Given the description of an element on the screen output the (x, y) to click on. 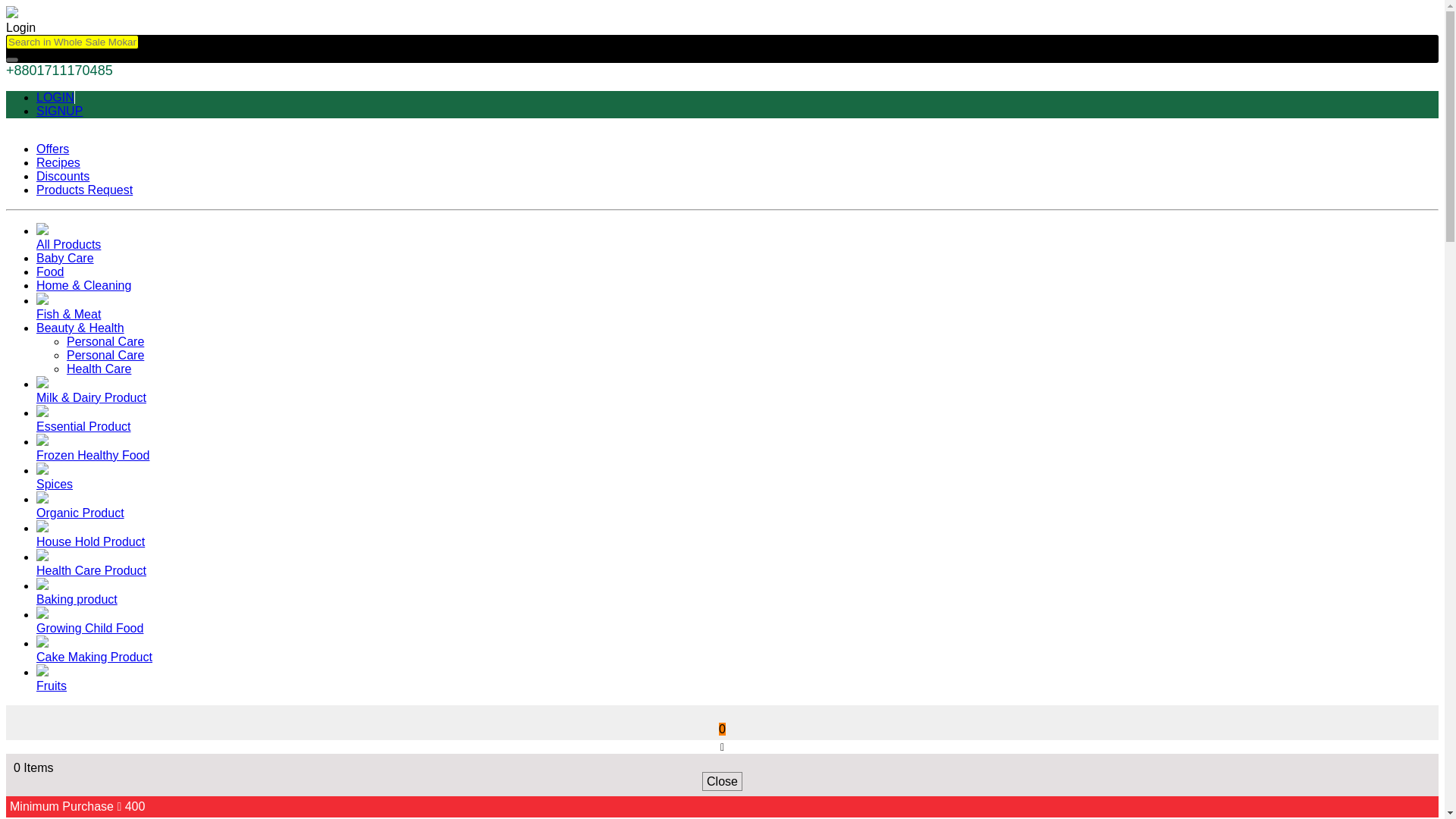
Recipes (58, 162)
Baby Care (65, 257)
House Hold Product (90, 541)
Baking product (76, 599)
Products Request (84, 189)
SIGNUP (59, 110)
Spices (54, 483)
Frozen Healthy Food (92, 454)
Cake Making Product (94, 656)
Personal Care (105, 354)
